Given the description of an element on the screen output the (x, y) to click on. 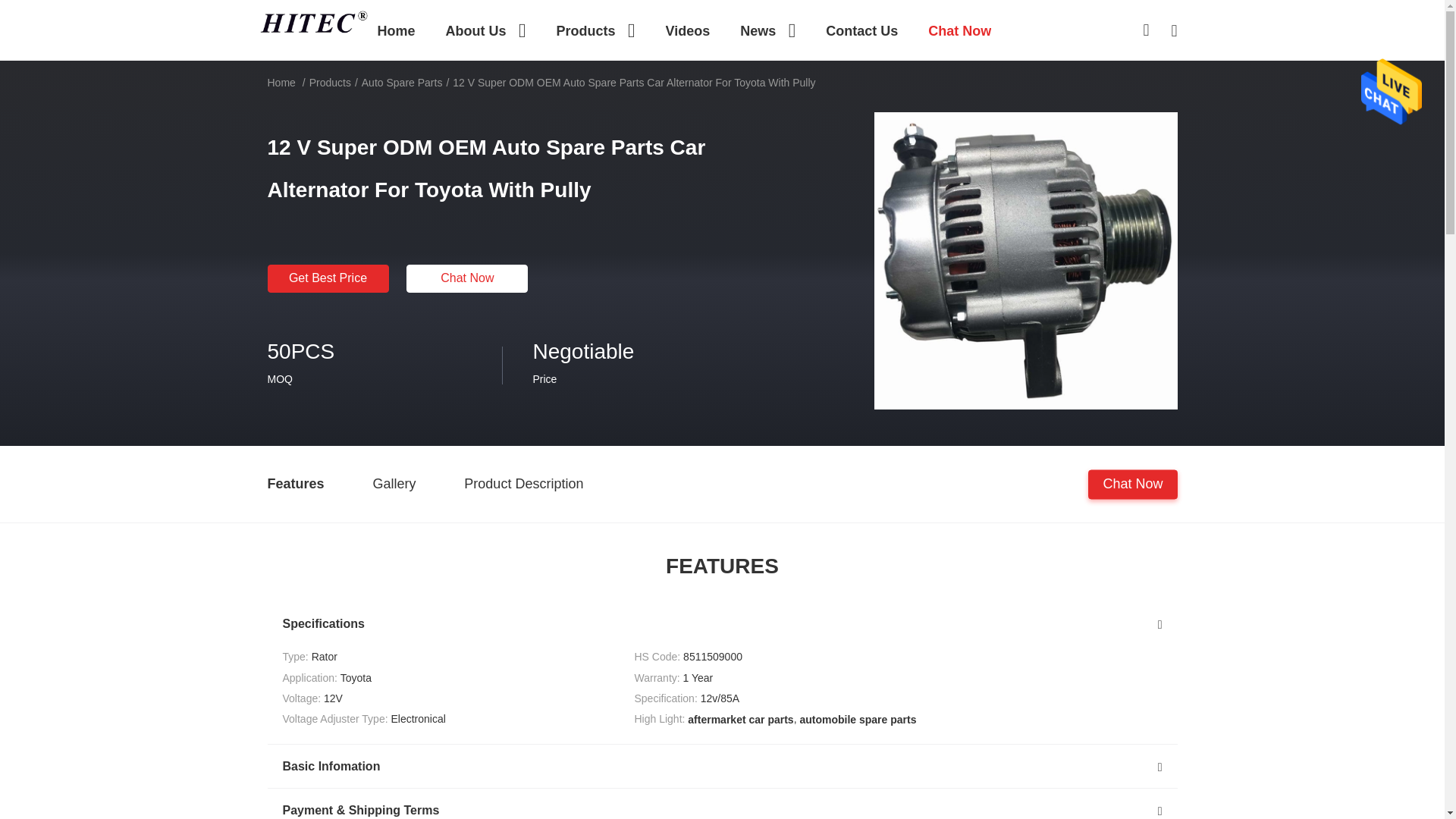
About Us (485, 30)
Products (595, 30)
About Us (485, 30)
Products (595, 30)
